Given the description of an element on the screen output the (x, y) to click on. 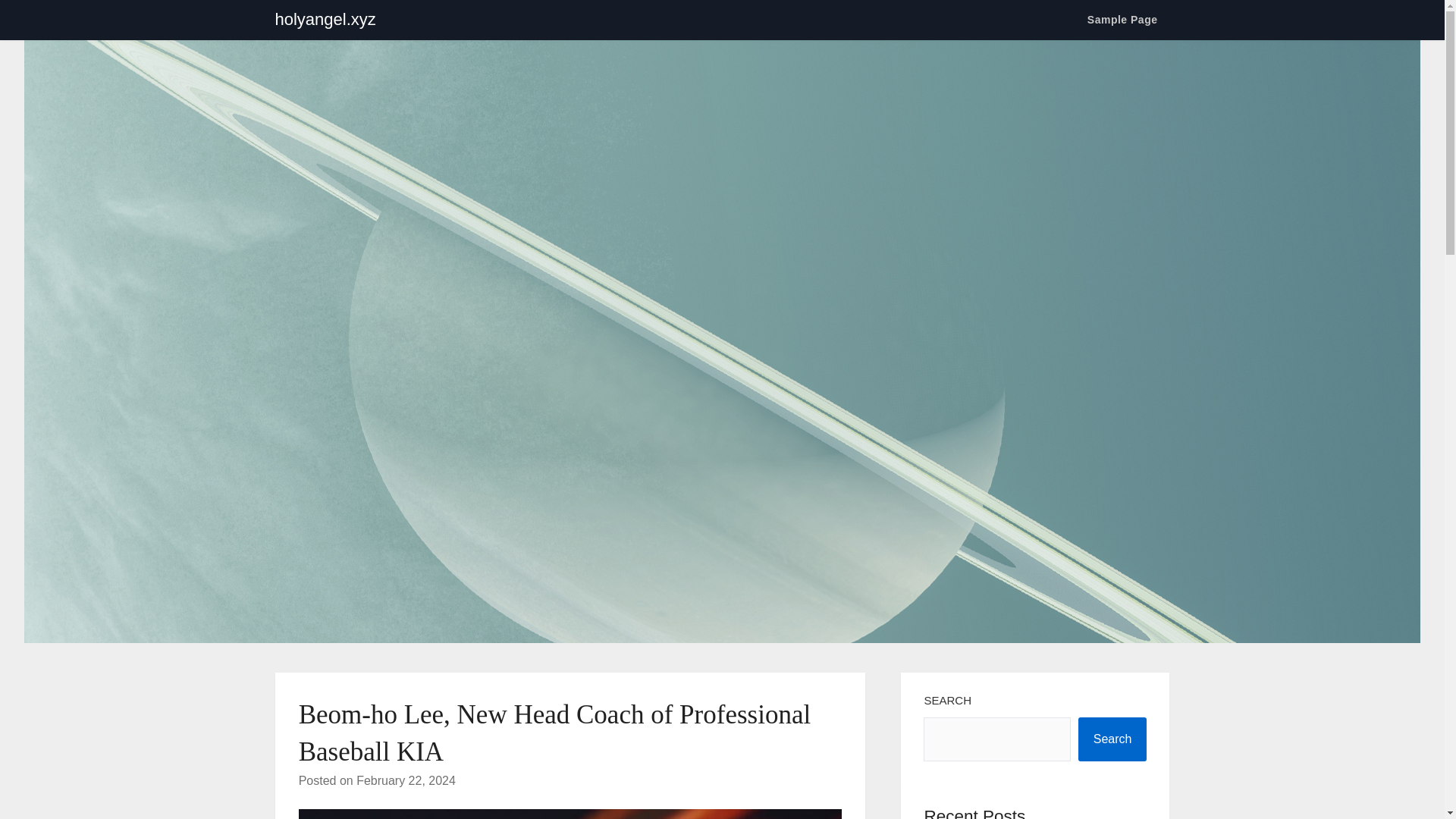
Search (1112, 739)
February 22, 2024 (405, 780)
Sample Page (1122, 20)
holyangel.xyz (325, 19)
